Given the description of an element on the screen output the (x, y) to click on. 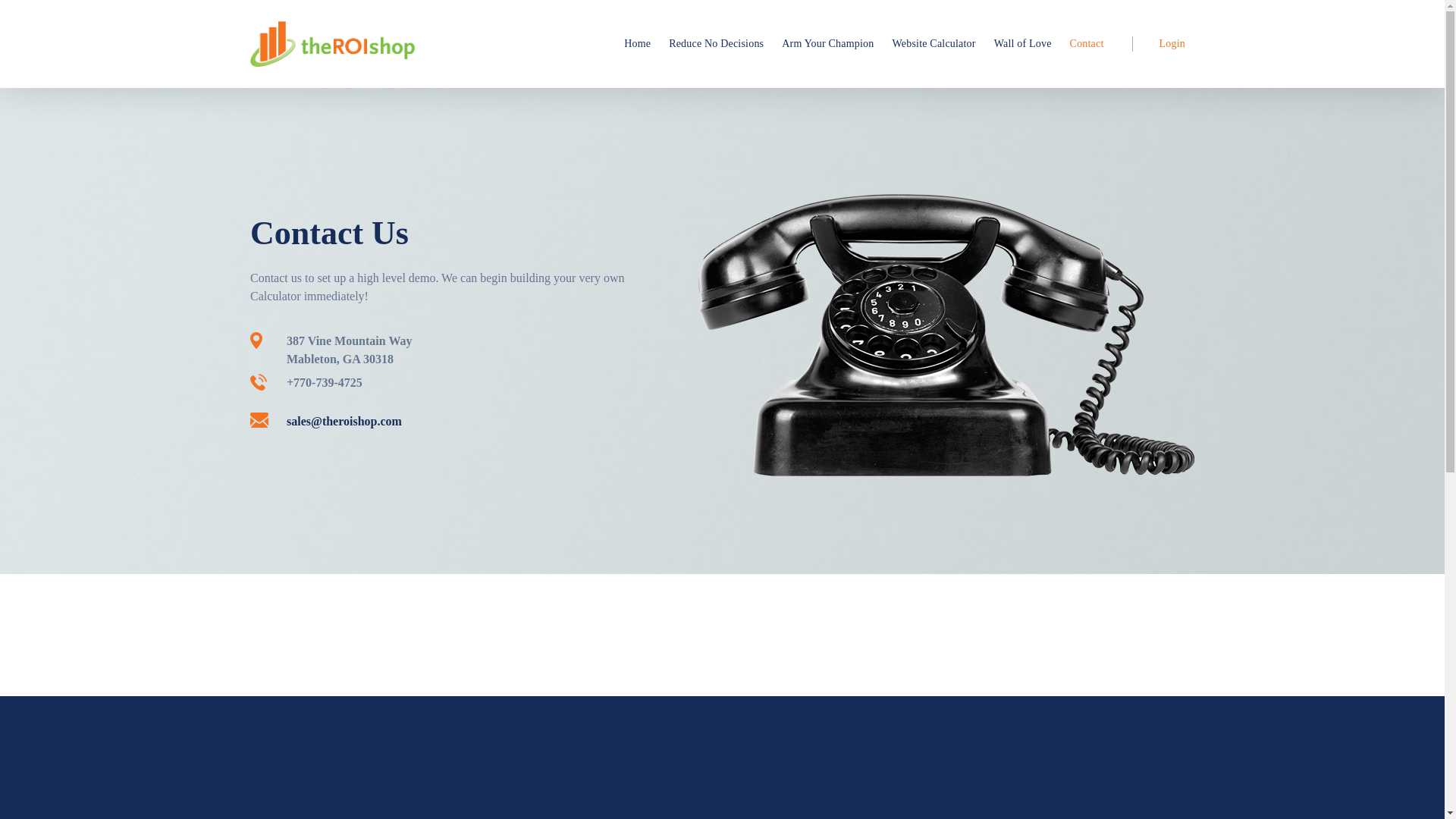
Login (1162, 43)
Website Calculator (933, 43)
Wall of Love (1023, 43)
Arm Your Champion (827, 43)
Contact (1087, 43)
Home (636, 43)
Reduce No Decisions (716, 43)
